Given the description of an element on the screen output the (x, y) to click on. 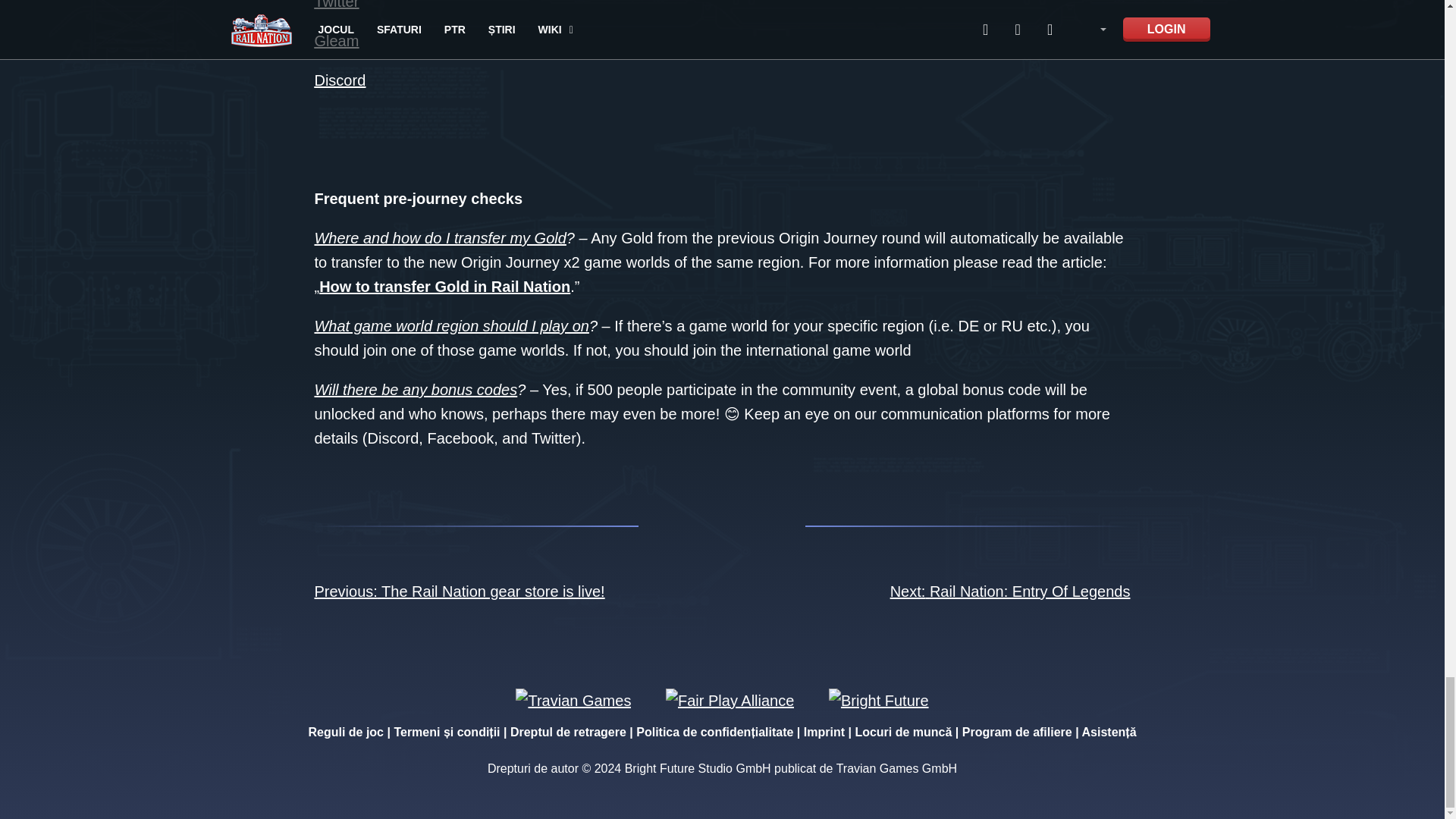
Fair Play Alliance (729, 699)
Dreptul de retragere (568, 731)
